Given the description of an element on the screen output the (x, y) to click on. 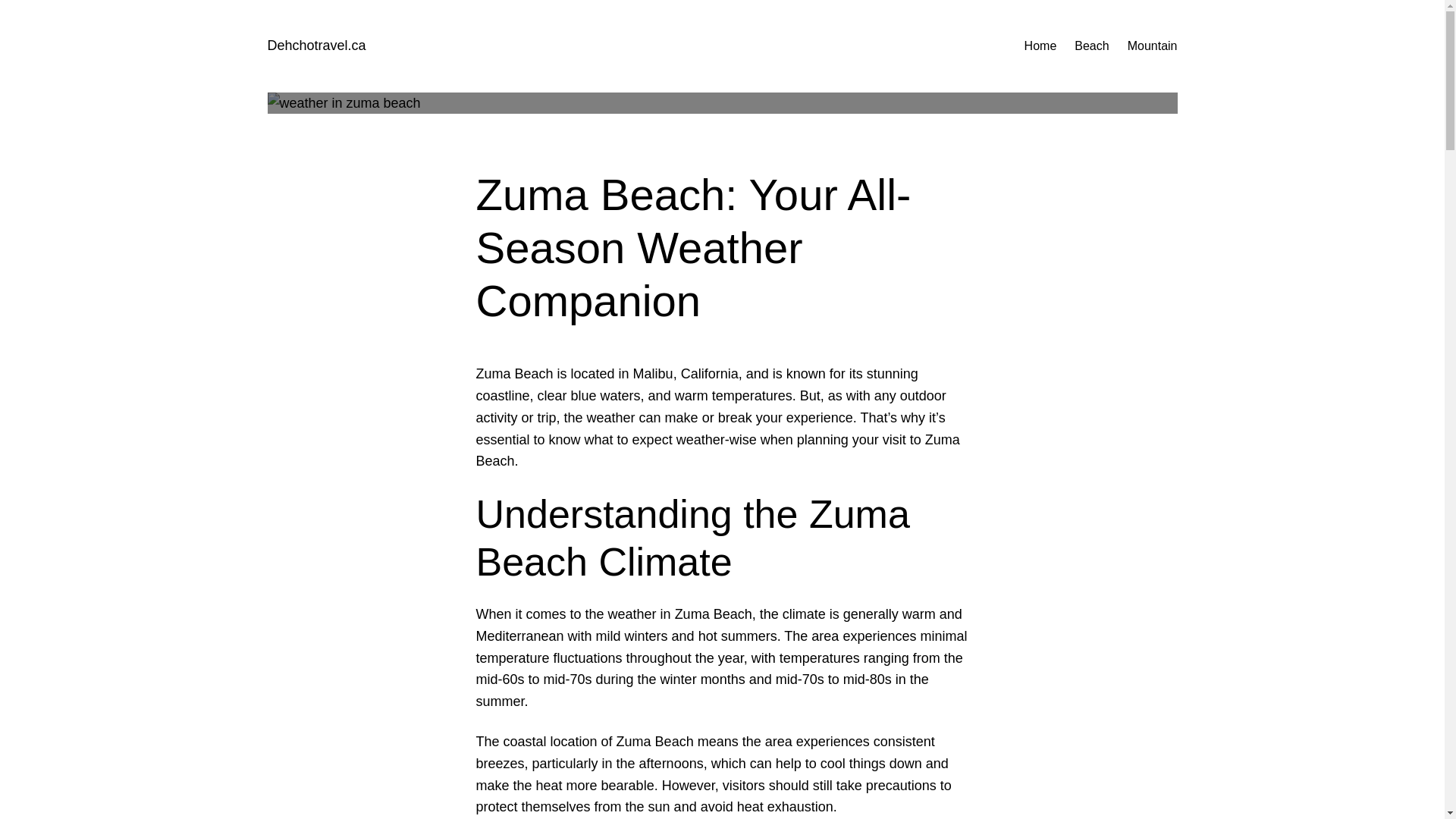
Beach (1091, 46)
Home (1041, 46)
Mountain (1151, 46)
Dehchotravel.ca (315, 45)
